Given the description of an element on the screen output the (x, y) to click on. 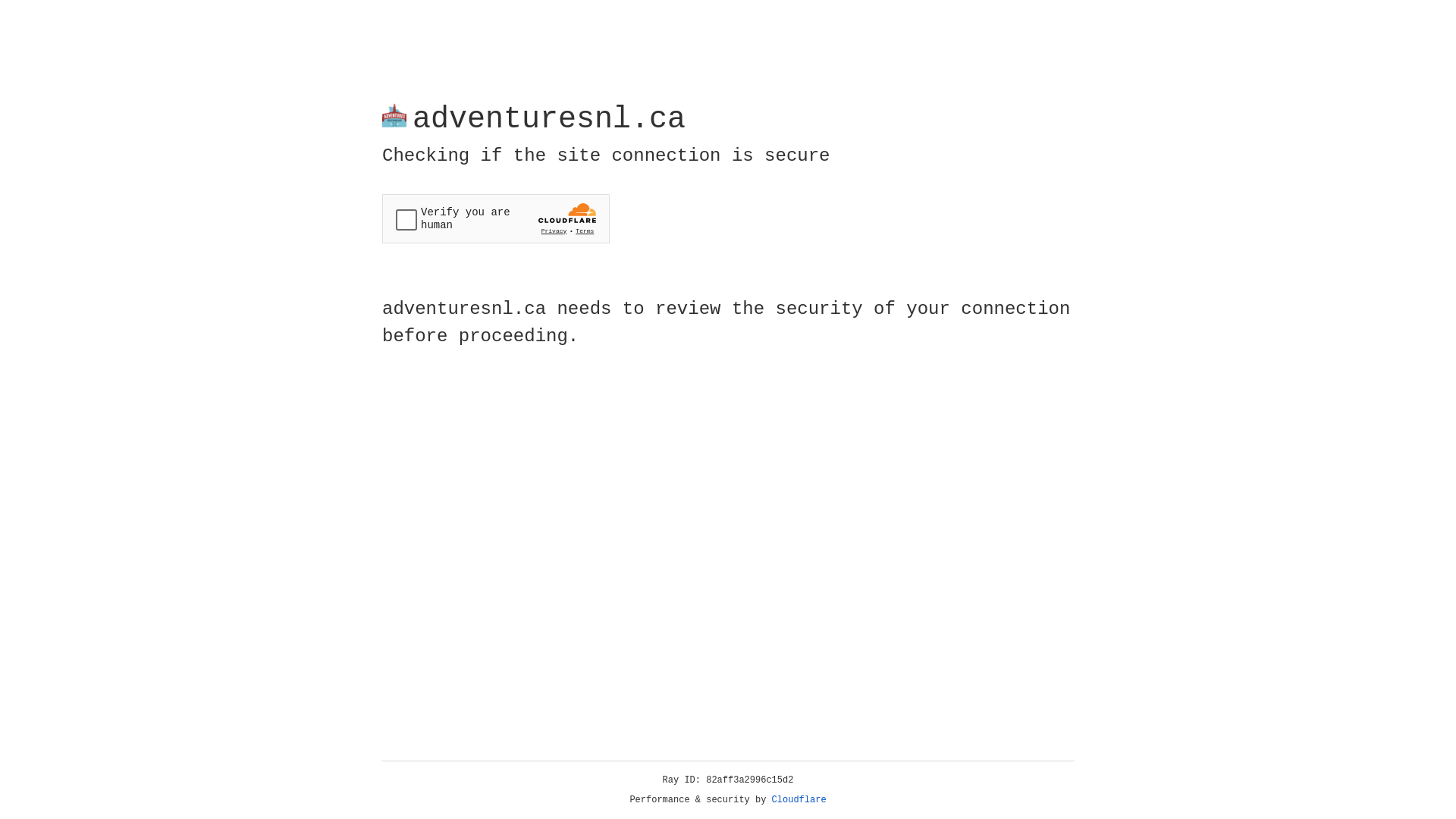
Widget containing a Cloudflare security challenge Element type: hover (495, 218)
Cloudflare Element type: text (798, 799)
